Given the description of an element on the screen output the (x, y) to click on. 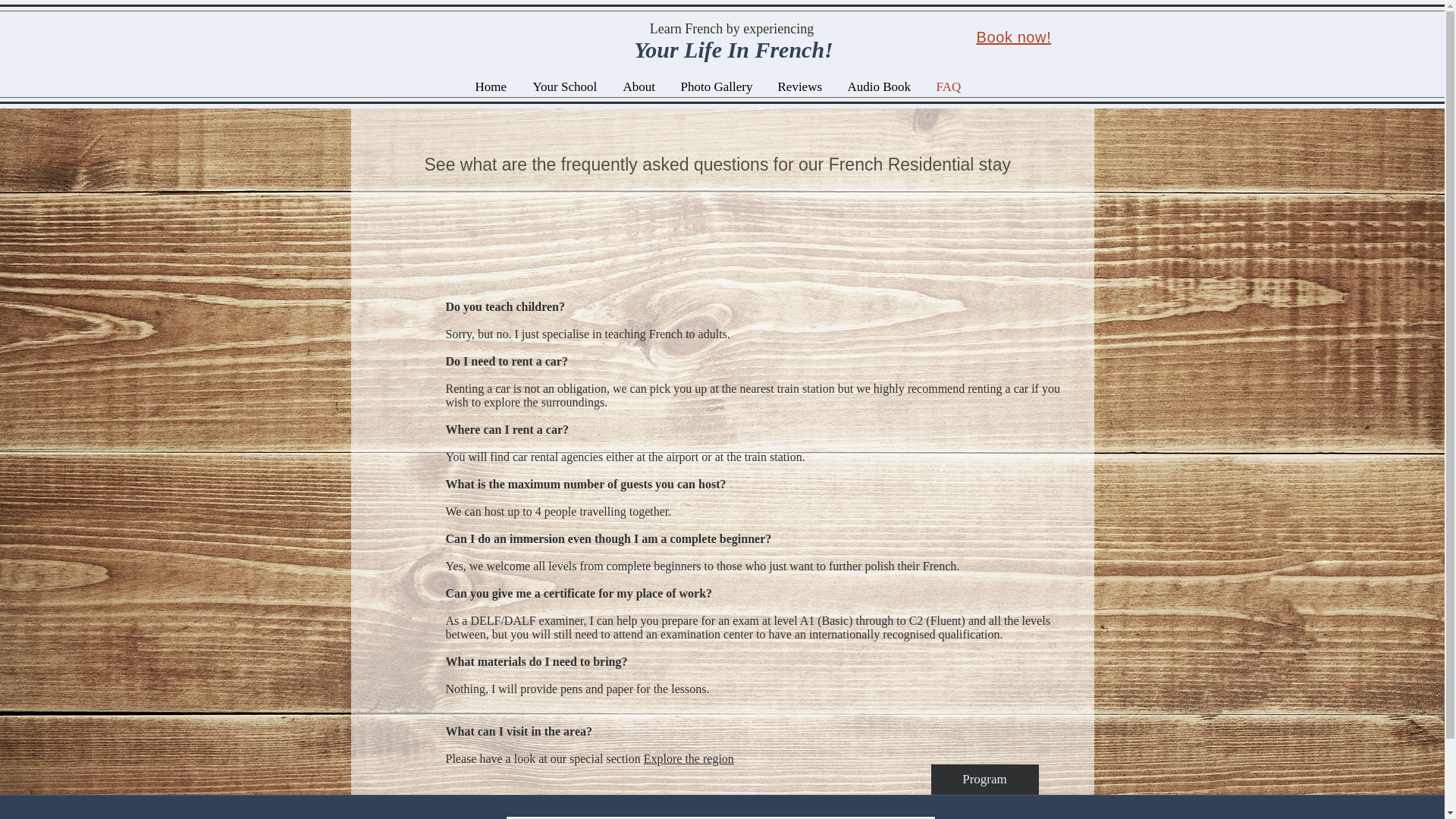
Explore the region (688, 758)
Program (985, 779)
Book now! (1013, 36)
Home (492, 86)
FAQ (949, 86)
Audio Book (879, 86)
Photo Gallery (716, 86)
Reviews (800, 86)
